Given the description of an element on the screen output the (x, y) to click on. 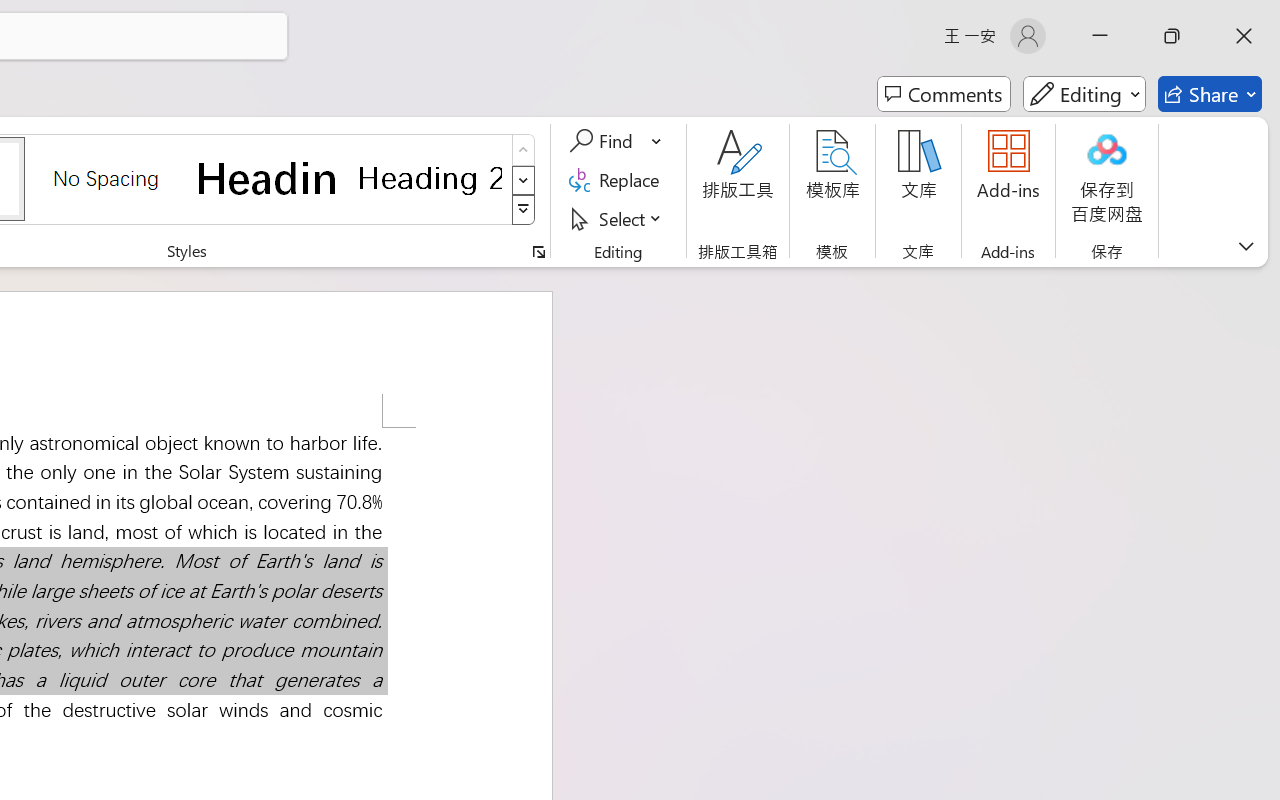
Styles... (538, 252)
Styles (523, 209)
Heading 1 (267, 178)
Row Down (523, 180)
Select (618, 218)
